Given the description of an element on the screen output the (x, y) to click on. 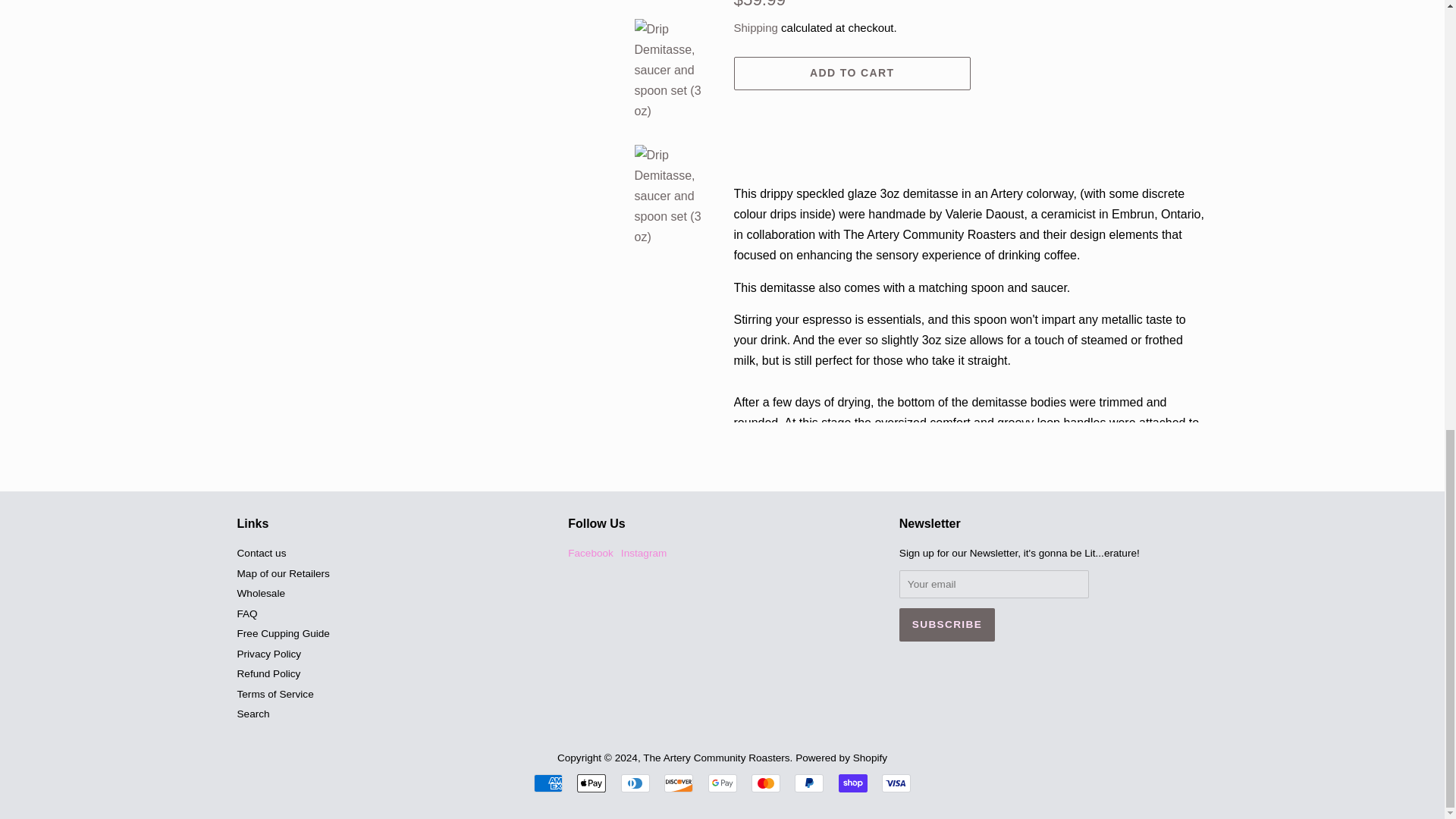
Mastercard (765, 782)
Subscribe (946, 624)
Shop Pay (852, 782)
Visa (896, 782)
The Artery Community Roasters on Instagram (643, 552)
Google Pay (721, 782)
PayPal (809, 782)
Discover (678, 782)
Diners Club (635, 782)
The Artery Community Roasters on Facebook (589, 552)
